Given the description of an element on the screen output the (x, y) to click on. 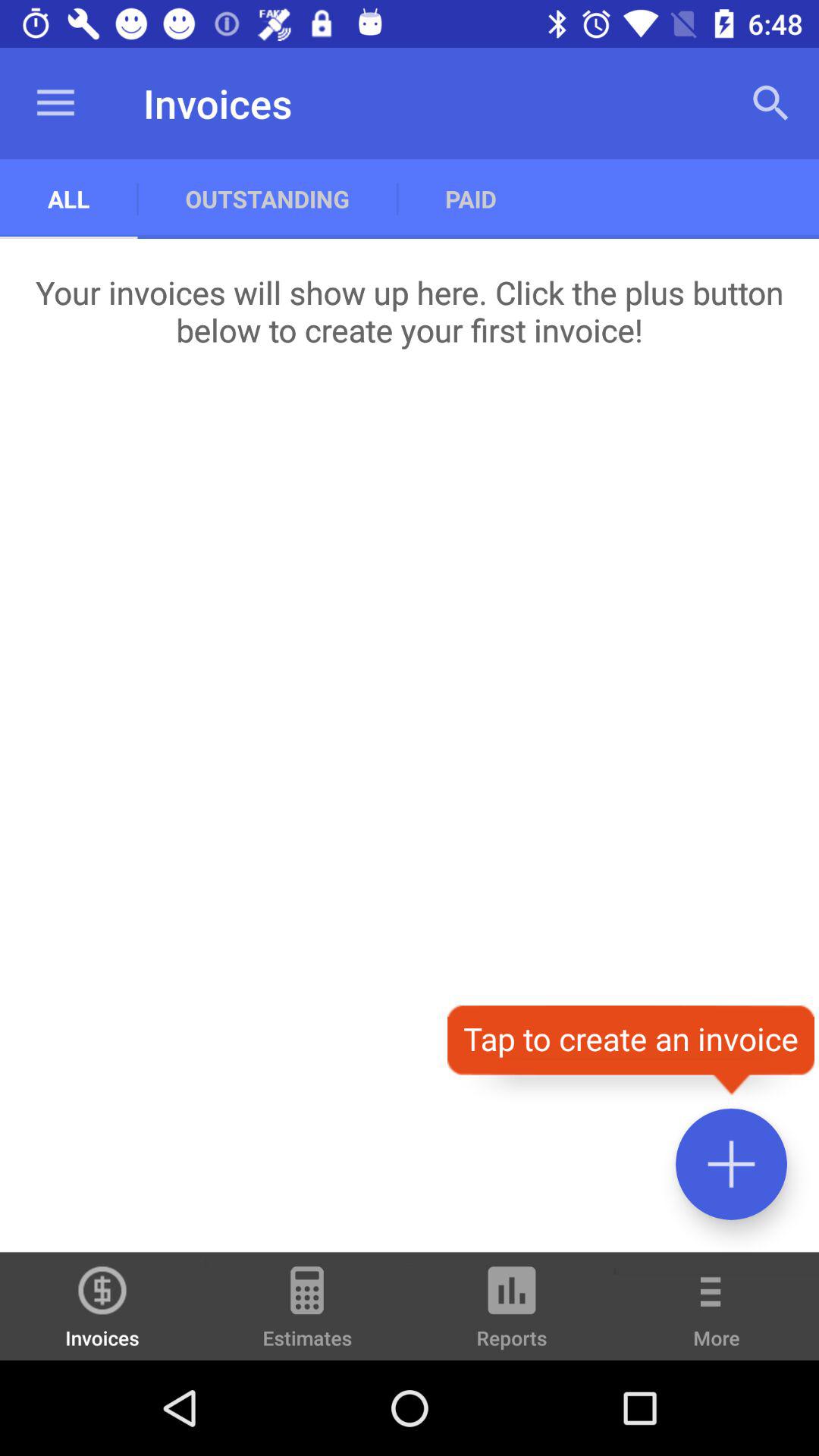
swipe to all (68, 198)
